Given the description of an element on the screen output the (x, y) to click on. 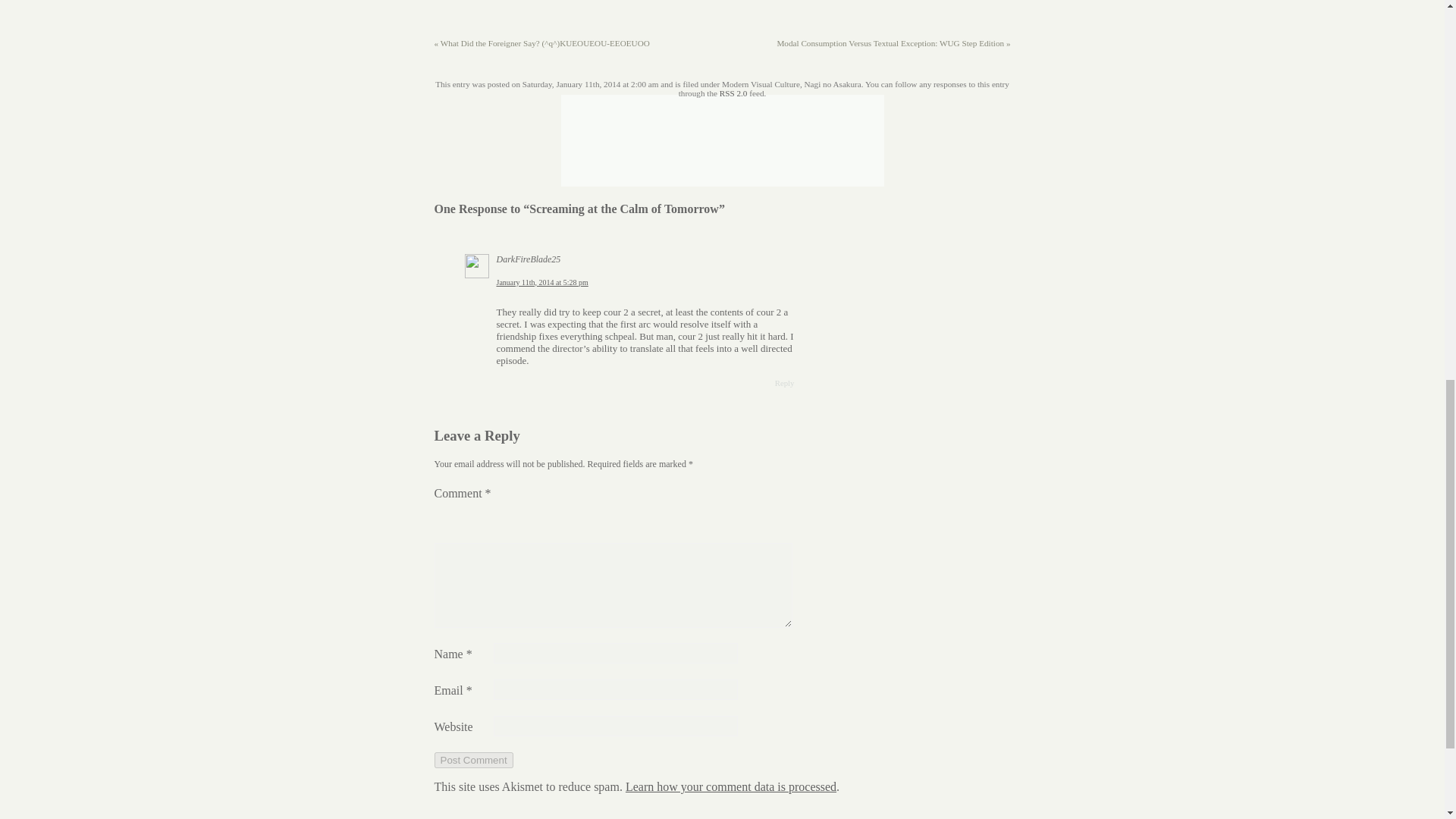
Post Comment (472, 760)
Post Comment (472, 760)
Reply (784, 382)
January 11th, 2014 at 5:28 pm (542, 282)
Learn how your comment data is processed (730, 786)
RSS 2.0 (733, 92)
